Given the description of an element on the screen output the (x, y) to click on. 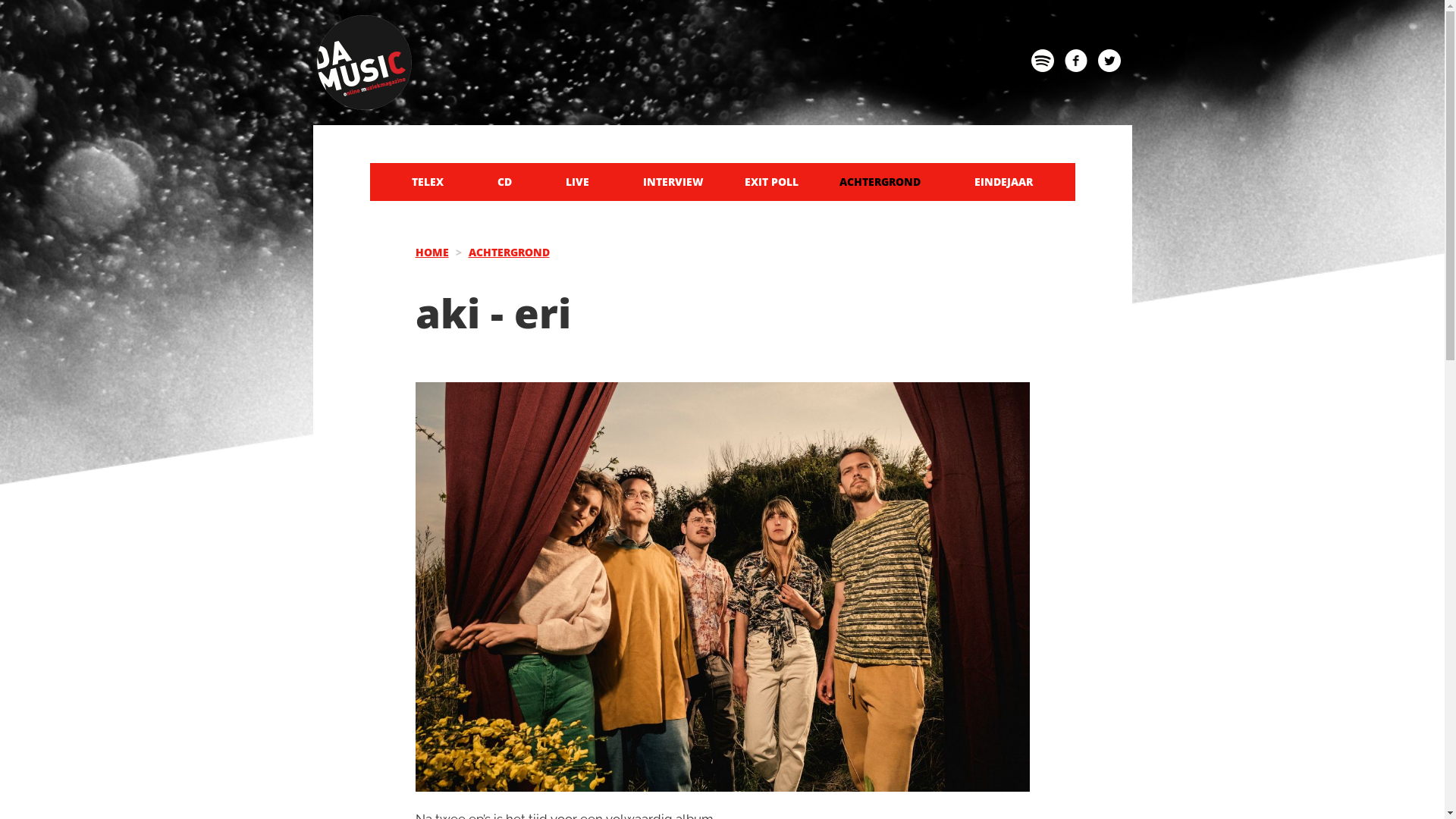
EXIT POLL Element type: text (771, 181)
ACHTERGROND Element type: text (879, 181)
TELEX Element type: text (427, 181)
LIVE Element type: text (577, 181)
ACHTERGROND Element type: text (508, 251)
CD Element type: text (504, 181)
HOME Element type: text (431, 251)
EINDEJAAR Element type: text (1003, 181)
INTERVIEW Element type: text (673, 181)
